Given the description of an element on the screen output the (x, y) to click on. 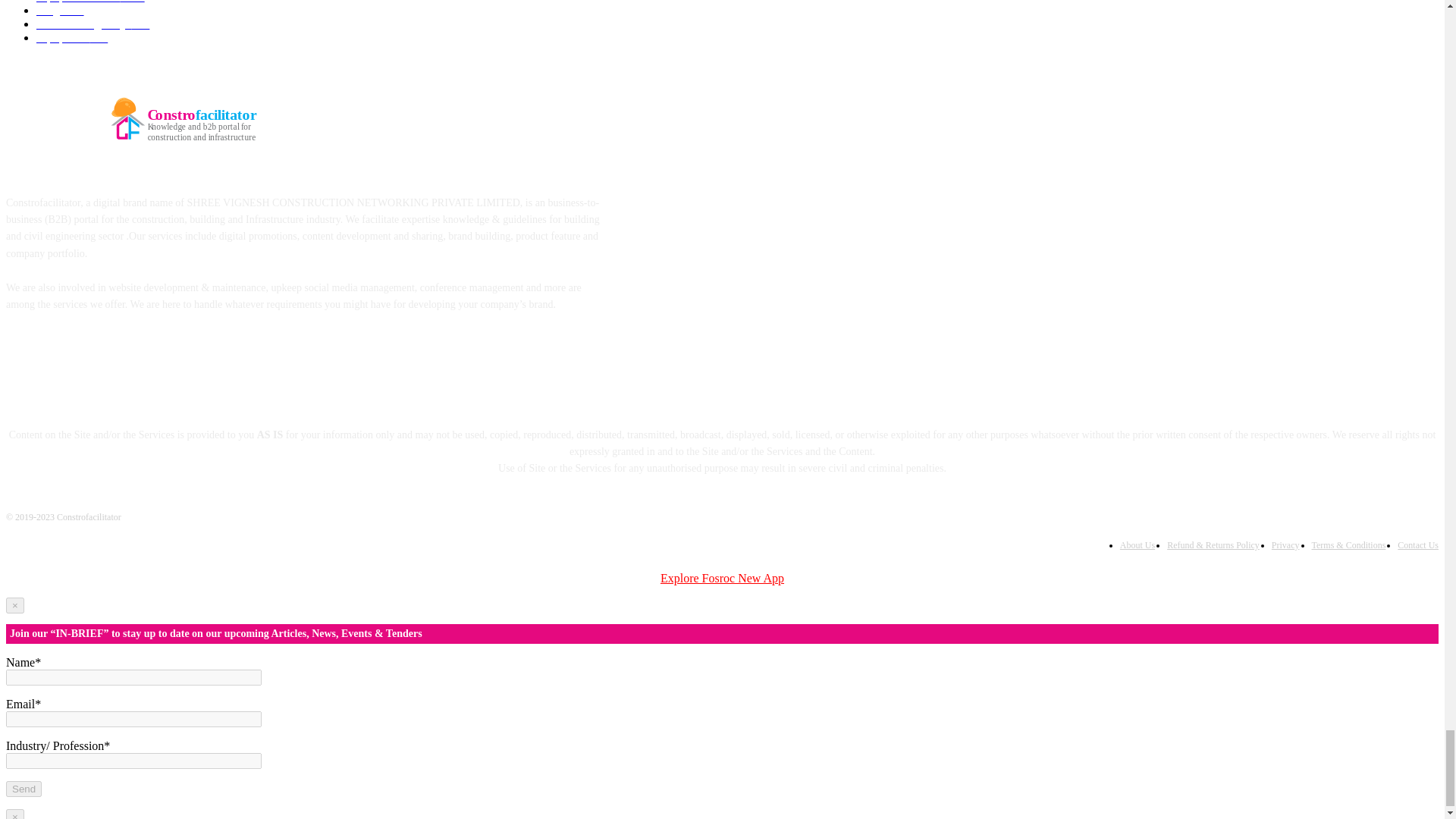
Send (23, 788)
